Given the description of an element on the screen output the (x, y) to click on. 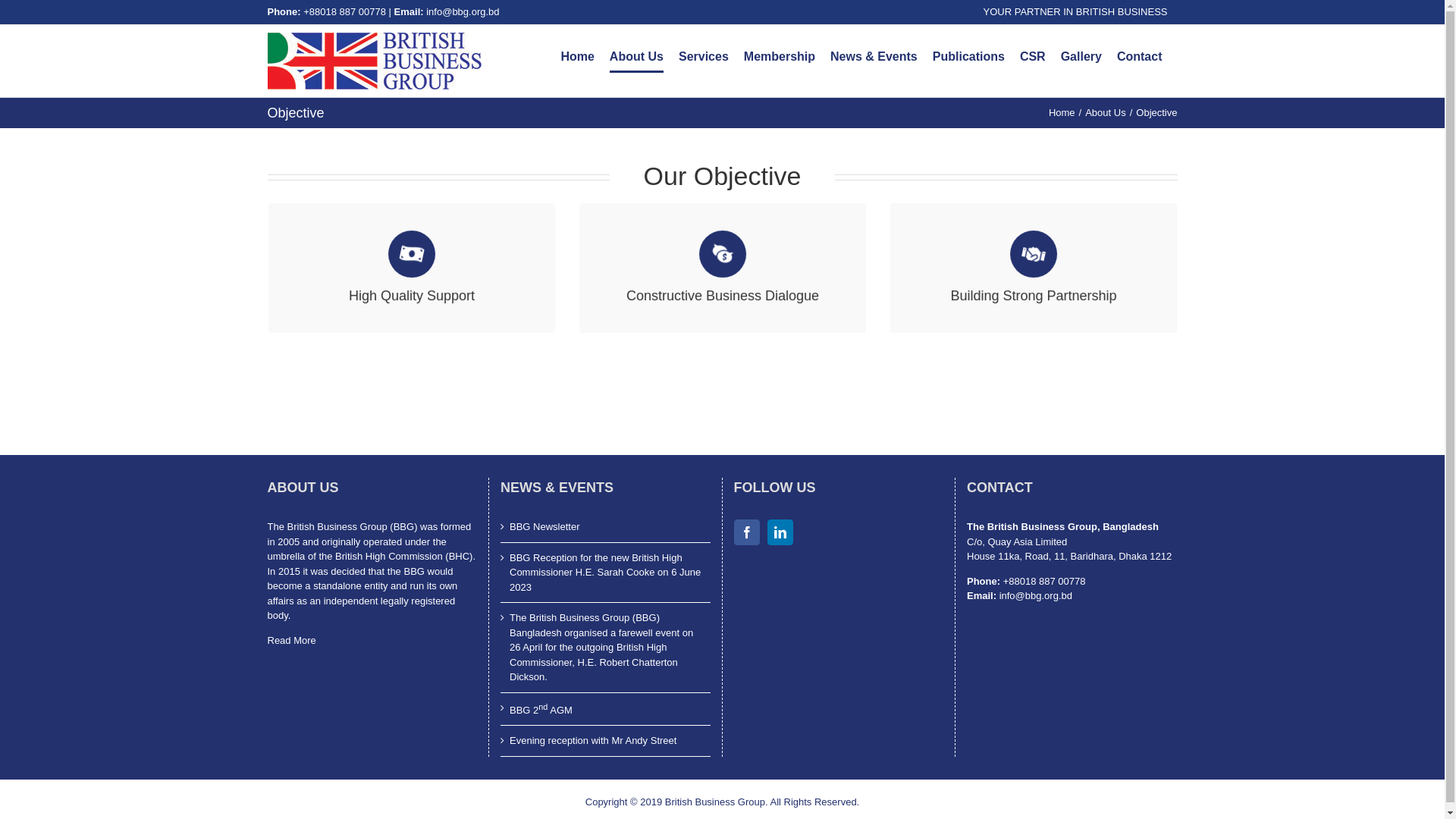
Membership Element type: text (779, 56)
BBG 2nd AGM Element type: text (605, 709)
About Us Element type: text (636, 56)
Contact Element type: text (1139, 56)
News & Events Element type: text (873, 56)
YOUR PARTNER IN BRITISH BUSINESS Element type: text (1075, 12)
Home Element type: text (1061, 112)
Read More Element type: text (290, 640)
CSR Element type: text (1032, 56)
Gallery Element type: text (1080, 56)
About Us Element type: text (1105, 112)
Evening reception with Mr Andy Street Element type: text (605, 740)
Home Element type: text (576, 56)
Publications Element type: text (968, 56)
Services Element type: text (703, 56)
BBG Newsletter Element type: text (605, 526)
